Given the description of an element on the screen output the (x, y) to click on. 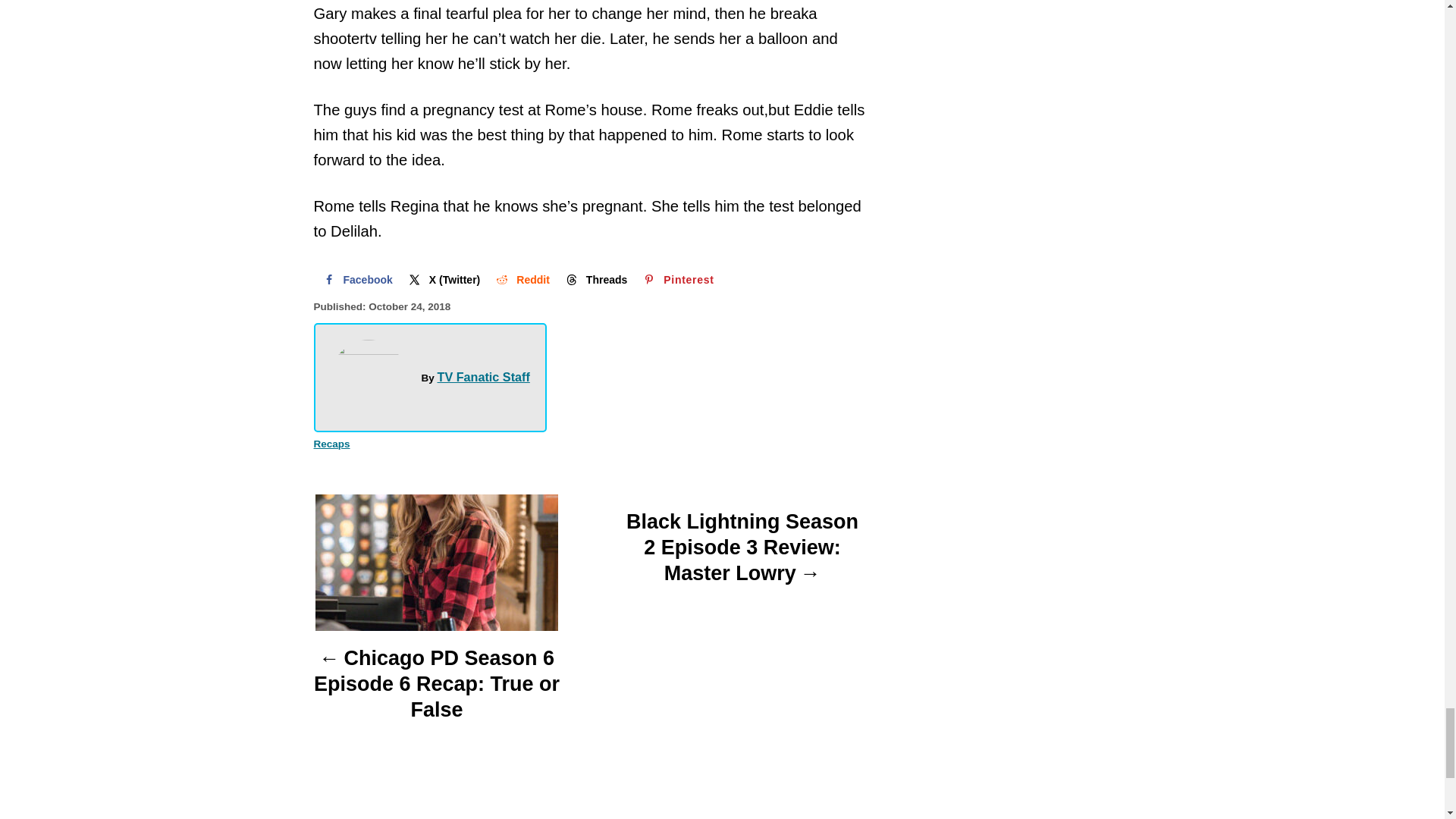
Save to Pinterest (676, 279)
Share on Threads (594, 279)
Share on Reddit (521, 279)
Share on Facebook (356, 279)
Share on X (442, 279)
